Given the description of an element on the screen output the (x, y) to click on. 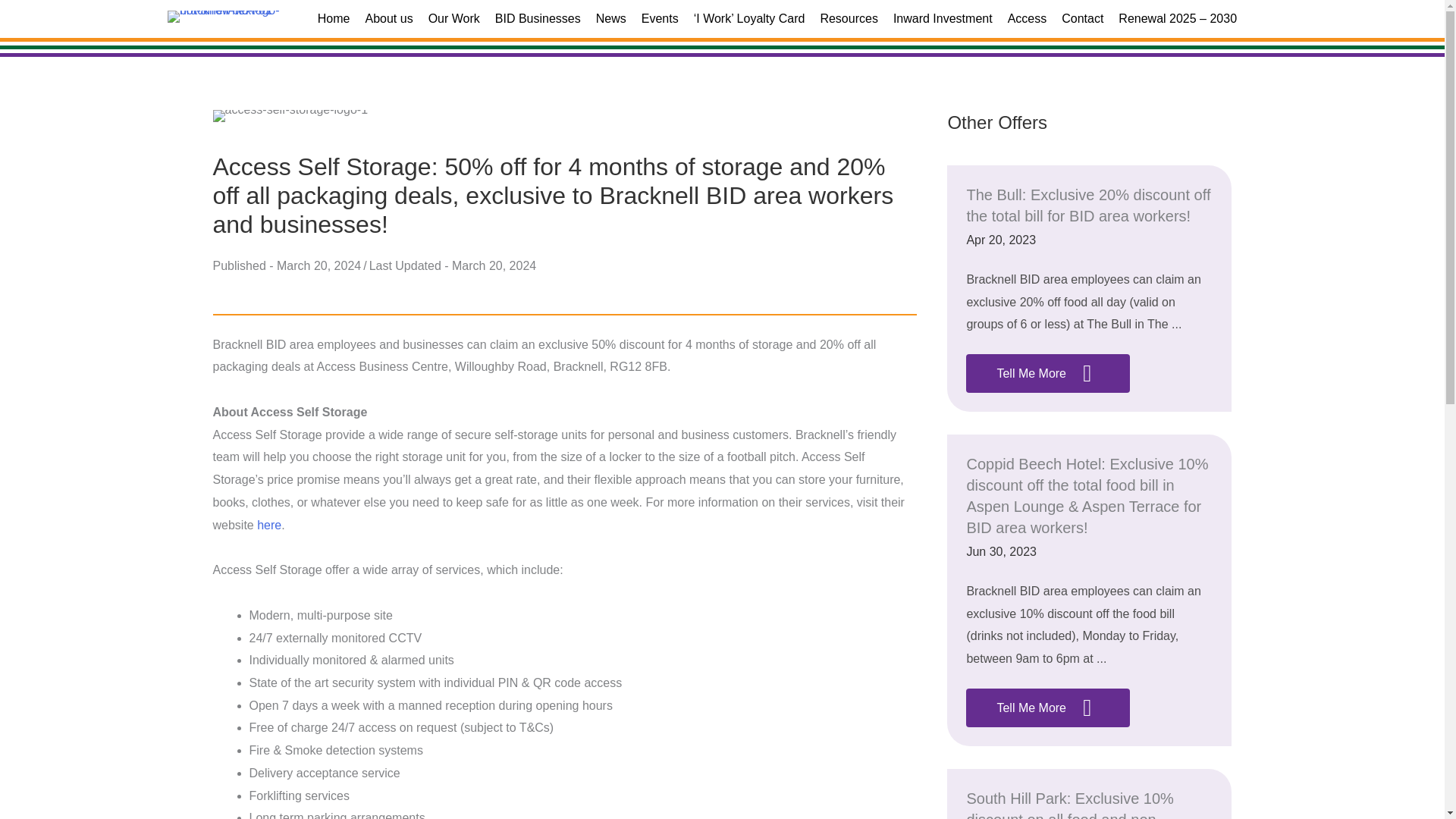
access-self-storage-logo-1 (290, 115)
BID Businesses (537, 18)
News (610, 18)
About us (389, 18)
bracknell-bid-logo-not-arrow-text-01 (223, 16)
Resources (848, 18)
Home (334, 18)
Our Work (453, 18)
Events (659, 18)
